Given the description of an element on the screen output the (x, y) to click on. 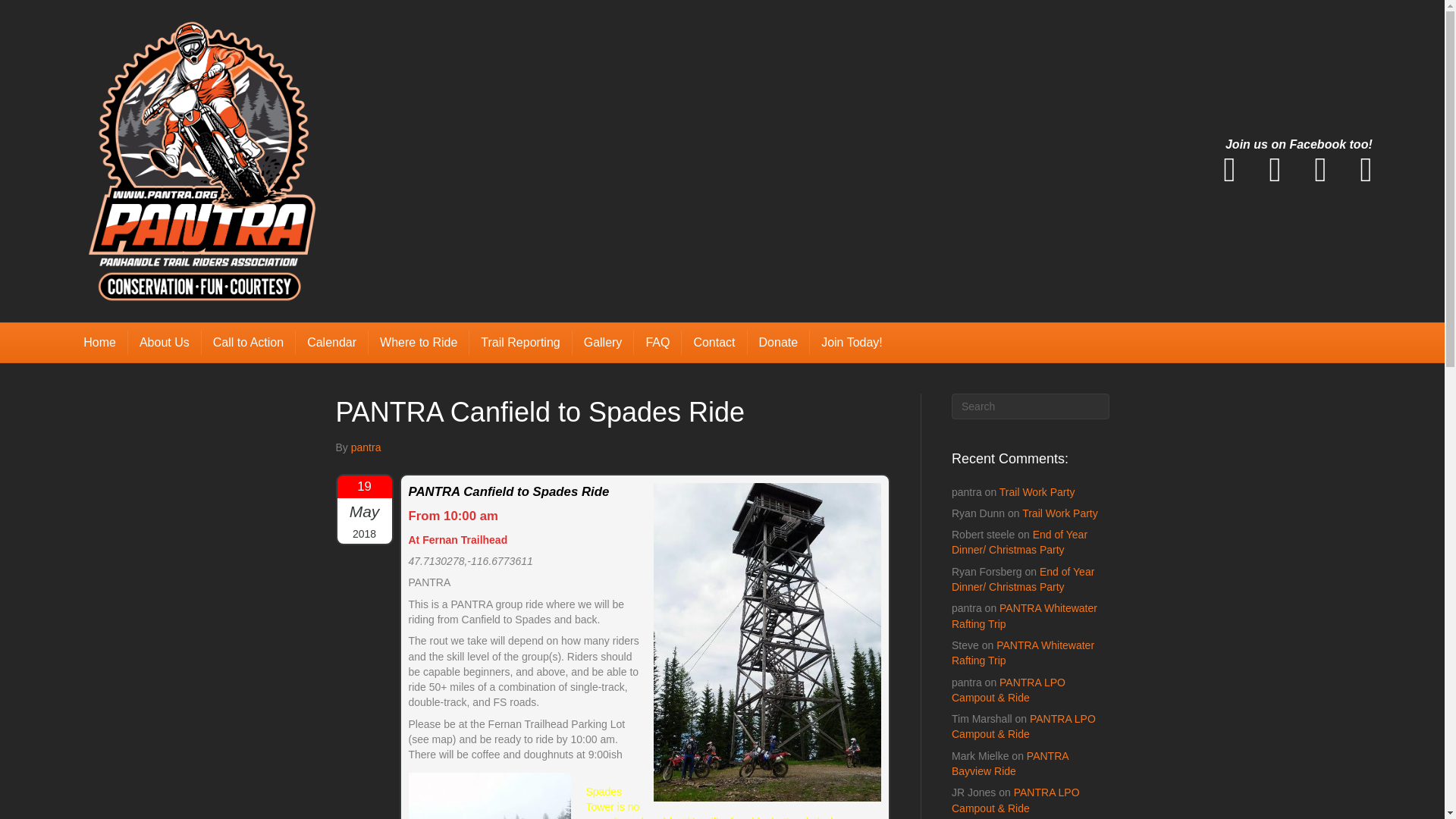
Call to Action (248, 342)
About Us (165, 342)
Where to Ride (418, 342)
Contact (713, 342)
Search (1030, 406)
Type and press Enter to search. (1030, 406)
Trail Reporting (520, 342)
Trail Work Party (1036, 491)
pantra (365, 447)
Calendar (331, 342)
Trail Work Party (1059, 512)
Home (99, 342)
Donate (779, 342)
PANTRA Bayview Ride (1010, 763)
Gallery (603, 342)
